Given the description of an element on the screen output the (x, y) to click on. 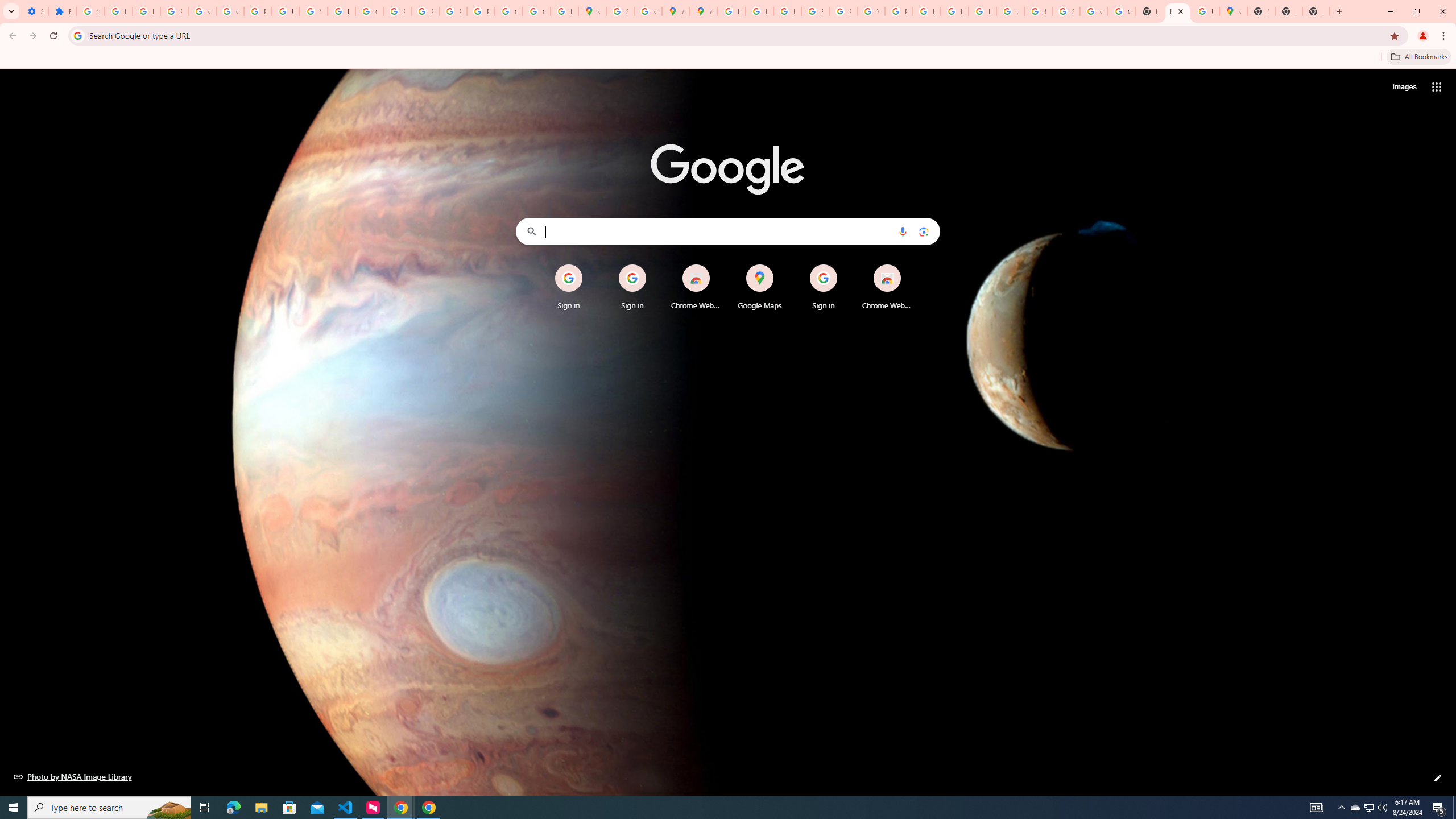
New Tab (1316, 11)
Delete photos & videos - Computer - Google Photos Help (118, 11)
Customize this page (1437, 778)
Use Google Maps in Space - Google Maps Help (1205, 11)
Remove (909, 265)
